Given the description of an element on the screen output the (x, y) to click on. 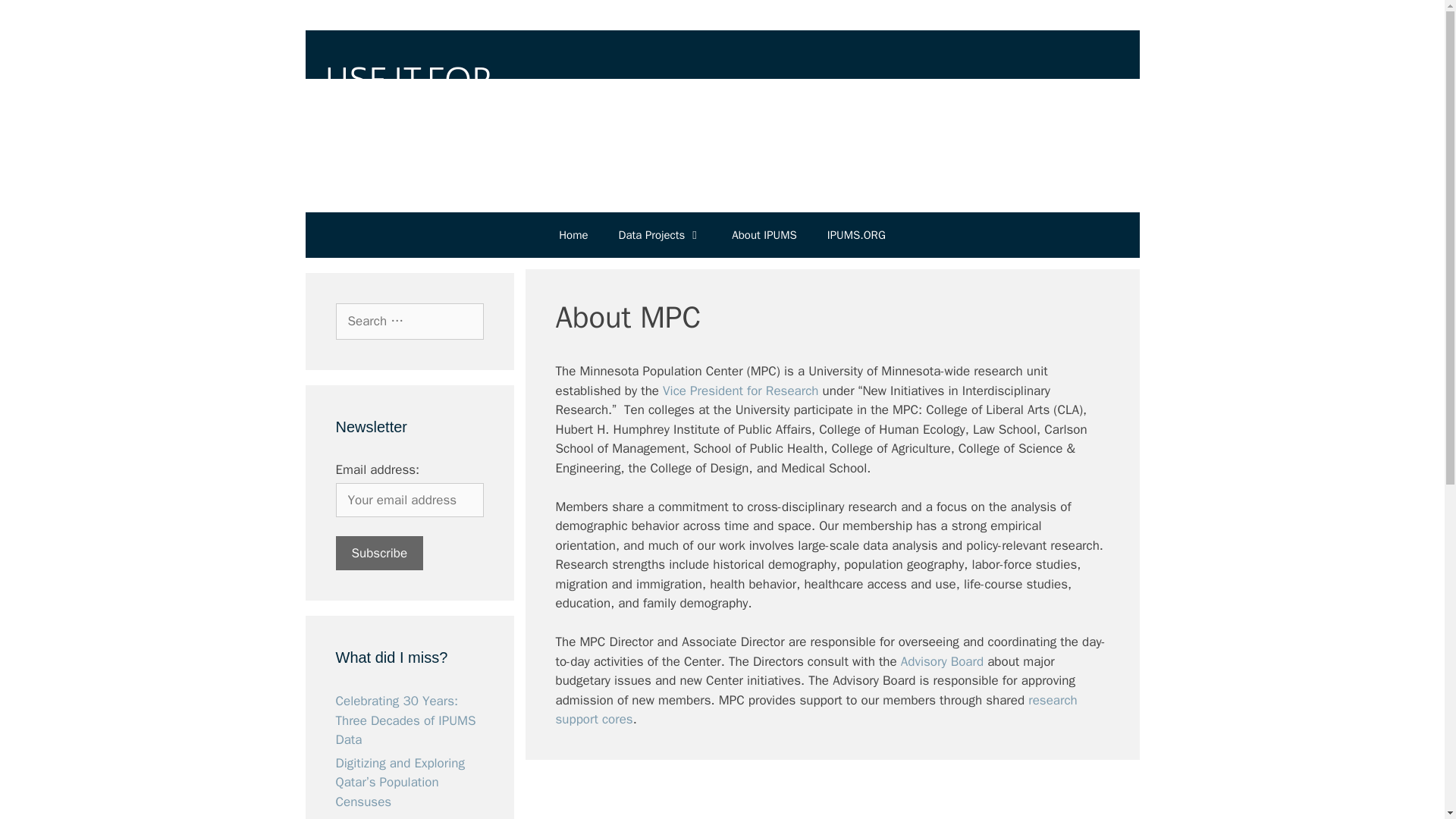
Celebrating 30 Years: Three Decades of IPUMS Data (405, 719)
research support cores (815, 709)
Vice President for Research (740, 390)
Search for: (408, 321)
IPUMS.ORG (856, 234)
About IPUMS (763, 234)
Search (35, 18)
Subscribe (378, 553)
Use It for Good (721, 105)
Use It for Good (721, 105)
